Given the description of an element on the screen output the (x, y) to click on. 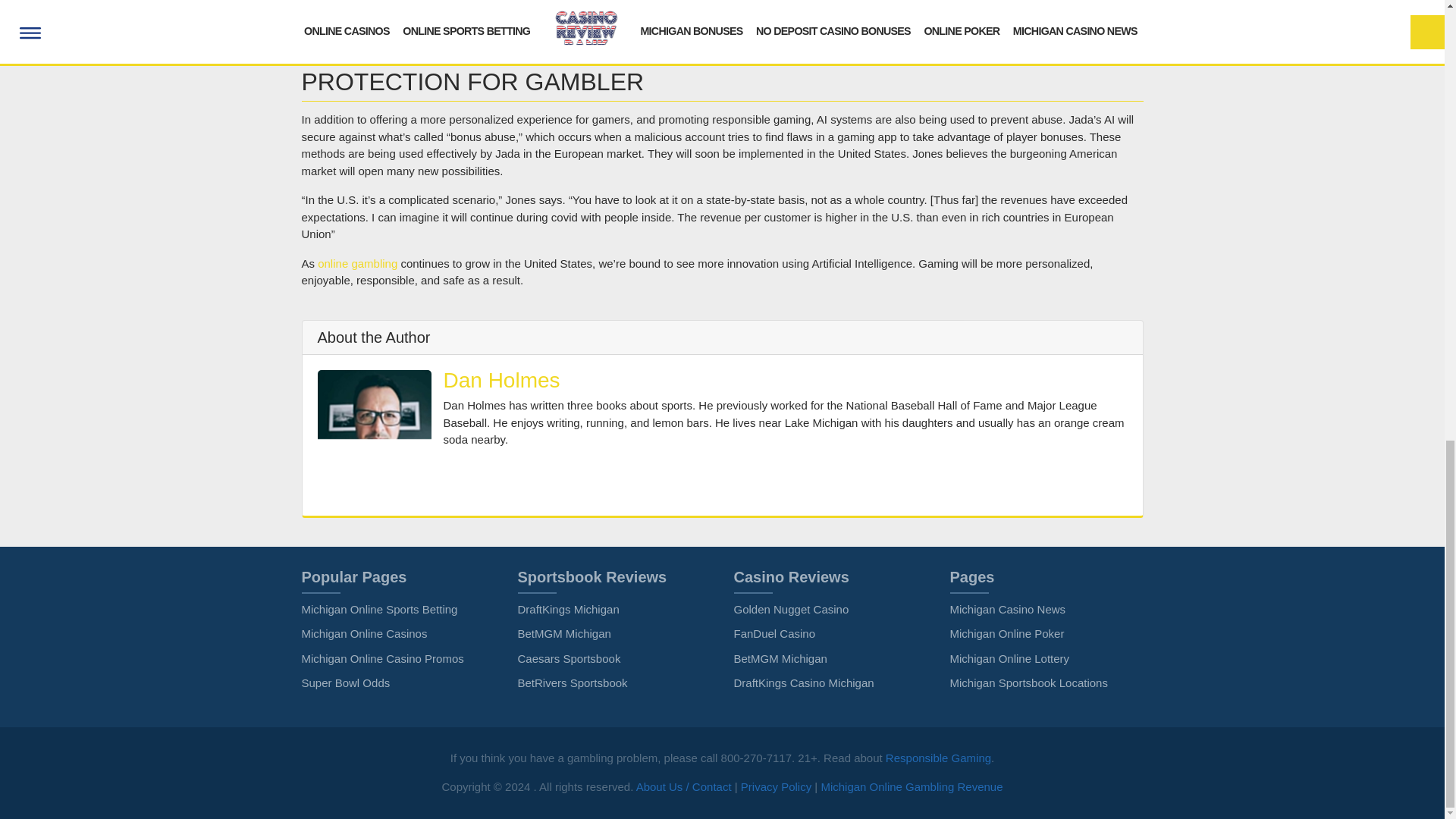
online gambling (357, 263)
Dan Holmes (500, 380)
DraftKings Michigan (567, 608)
Super Bowl Odds (345, 682)
Michigan Online Sports Betting (379, 608)
Michigan Online Casino Promos (382, 658)
Michigan Online Casinos (364, 633)
